Given the description of an element on the screen output the (x, y) to click on. 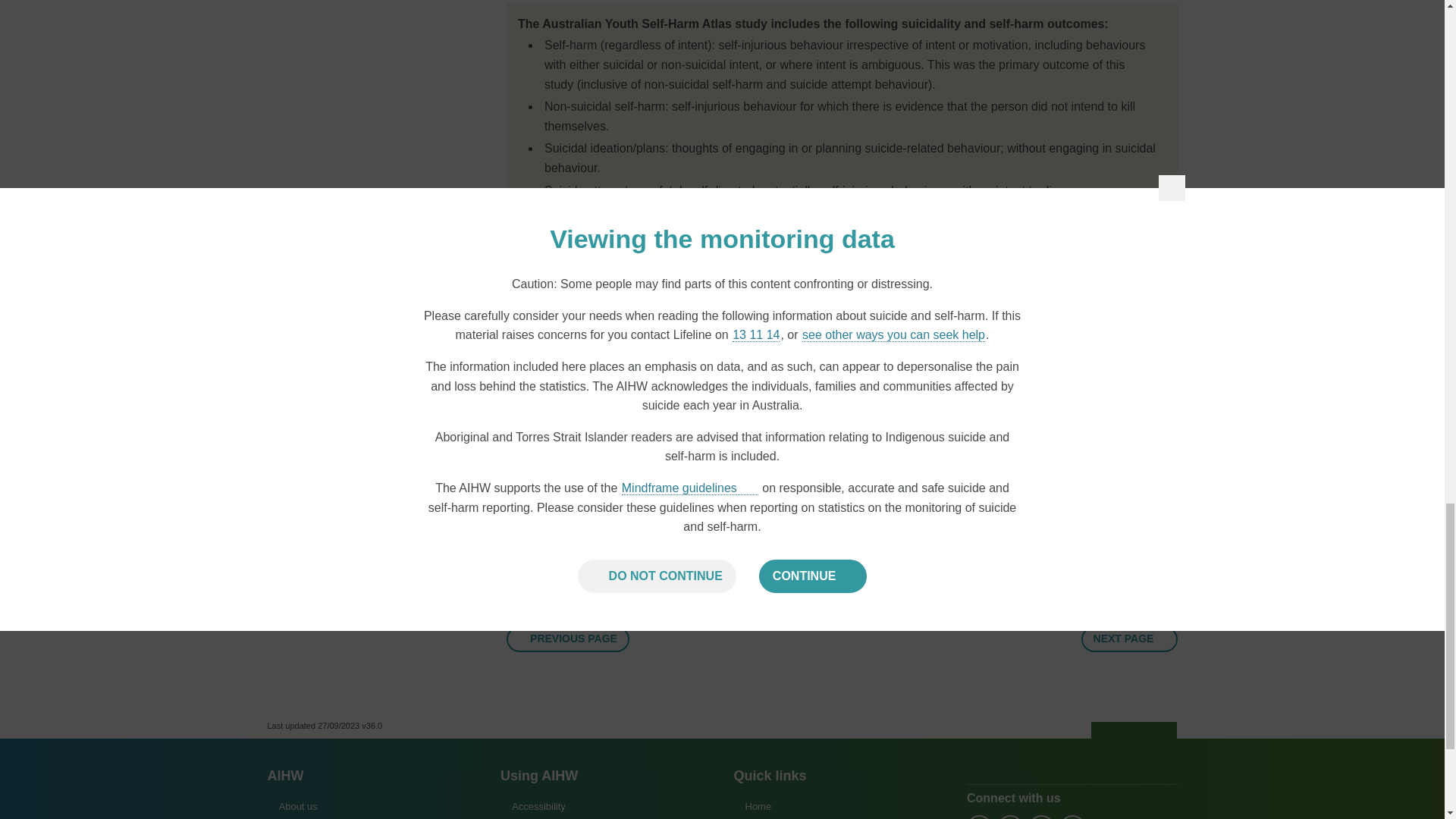
Back to top (1133, 731)
